Given the description of an element on the screen output the (x, y) to click on. 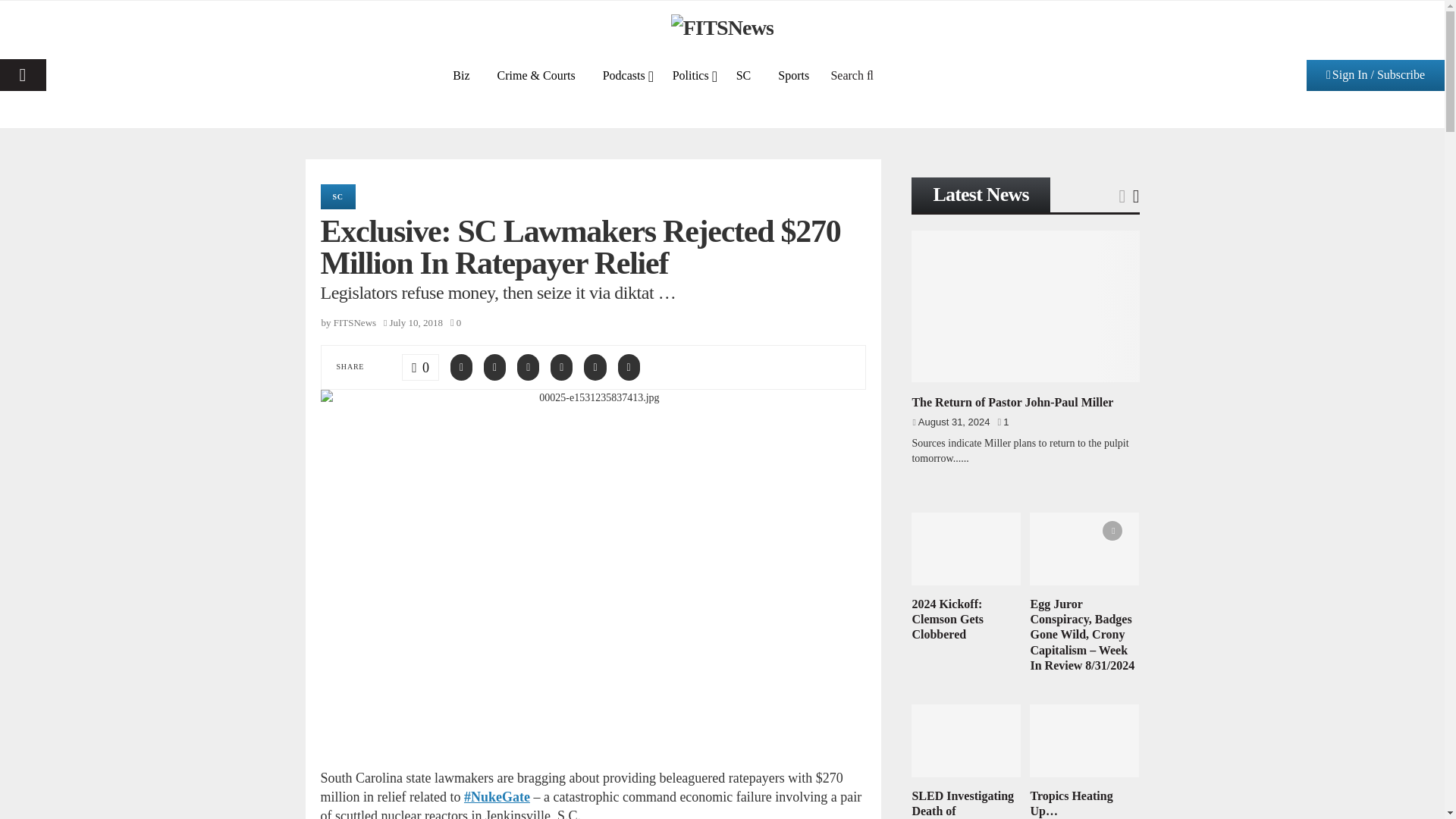
Sports (793, 74)
Sign up new account (722, 415)
PRIMARY MENU (22, 74)
Podcasts (624, 74)
Biz (461, 74)
Sign up new account (722, 538)
Like (420, 366)
SC (743, 74)
Politics (690, 74)
Search (852, 74)
